Given the description of an element on the screen output the (x, y) to click on. 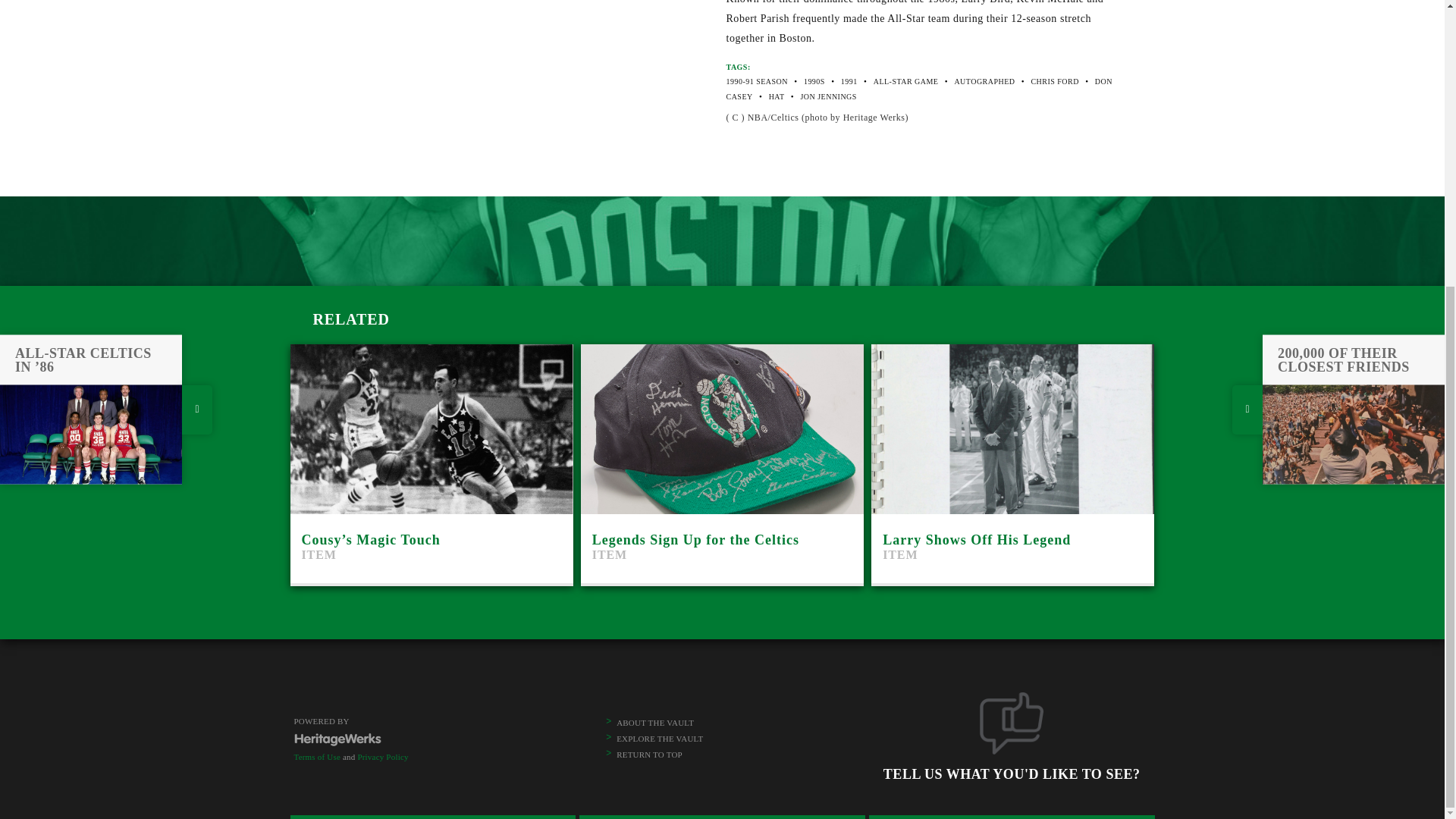
JON JENNINGS (827, 96)
1990-91 SEASON (756, 80)
DON CASEY (919, 88)
1990S (814, 80)
AUTOGRAPHED (983, 80)
ALL-STAR GAME (906, 80)
1991 (849, 80)
HAT (721, 463)
CHRIS FORD (1012, 463)
